Given the description of an element on the screen output the (x, y) to click on. 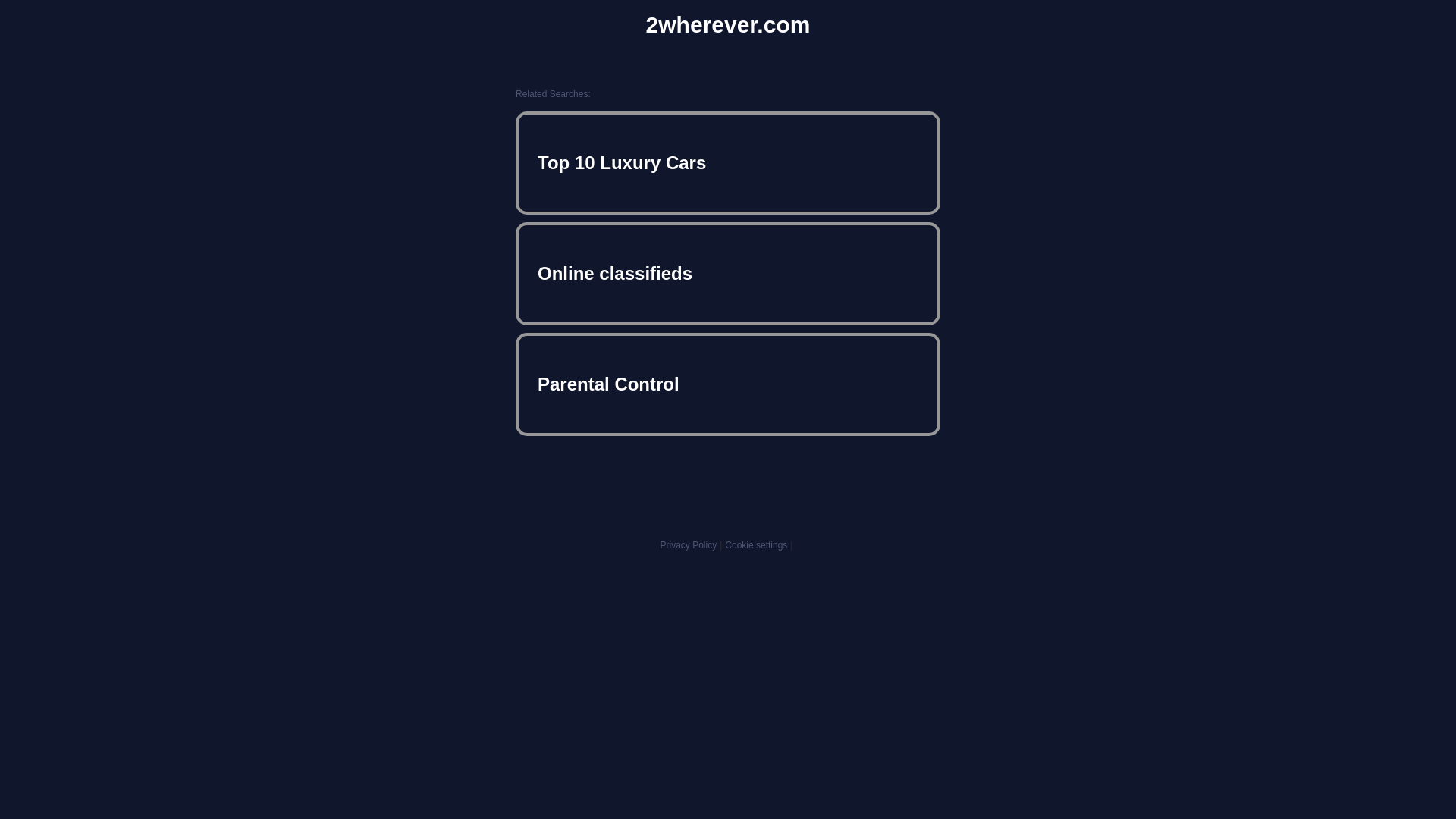
Top 10 Luxury Cars Element type: text (727, 162)
Parental Control Element type: text (727, 384)
Online classifieds Element type: text (727, 273)
2wherever.com Element type: text (728, 24)
Privacy Policy Element type: text (687, 544)
Cookie settings Element type: text (755, 544)
